Given the description of an element on the screen output the (x, y) to click on. 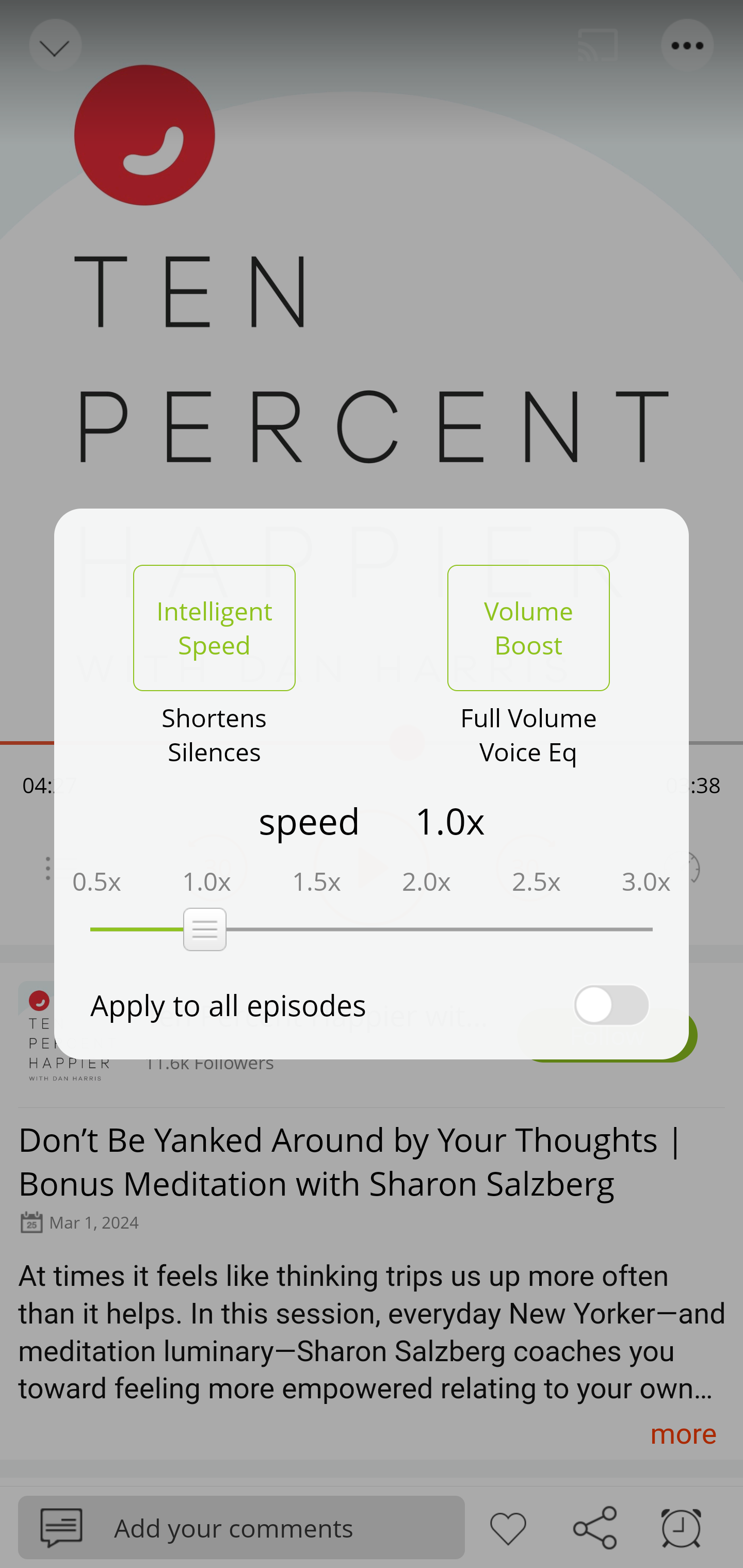
Intelligent
Speed (213, 627)
Volume
Boost (528, 627)
